Given the description of an element on the screen output the (x, y) to click on. 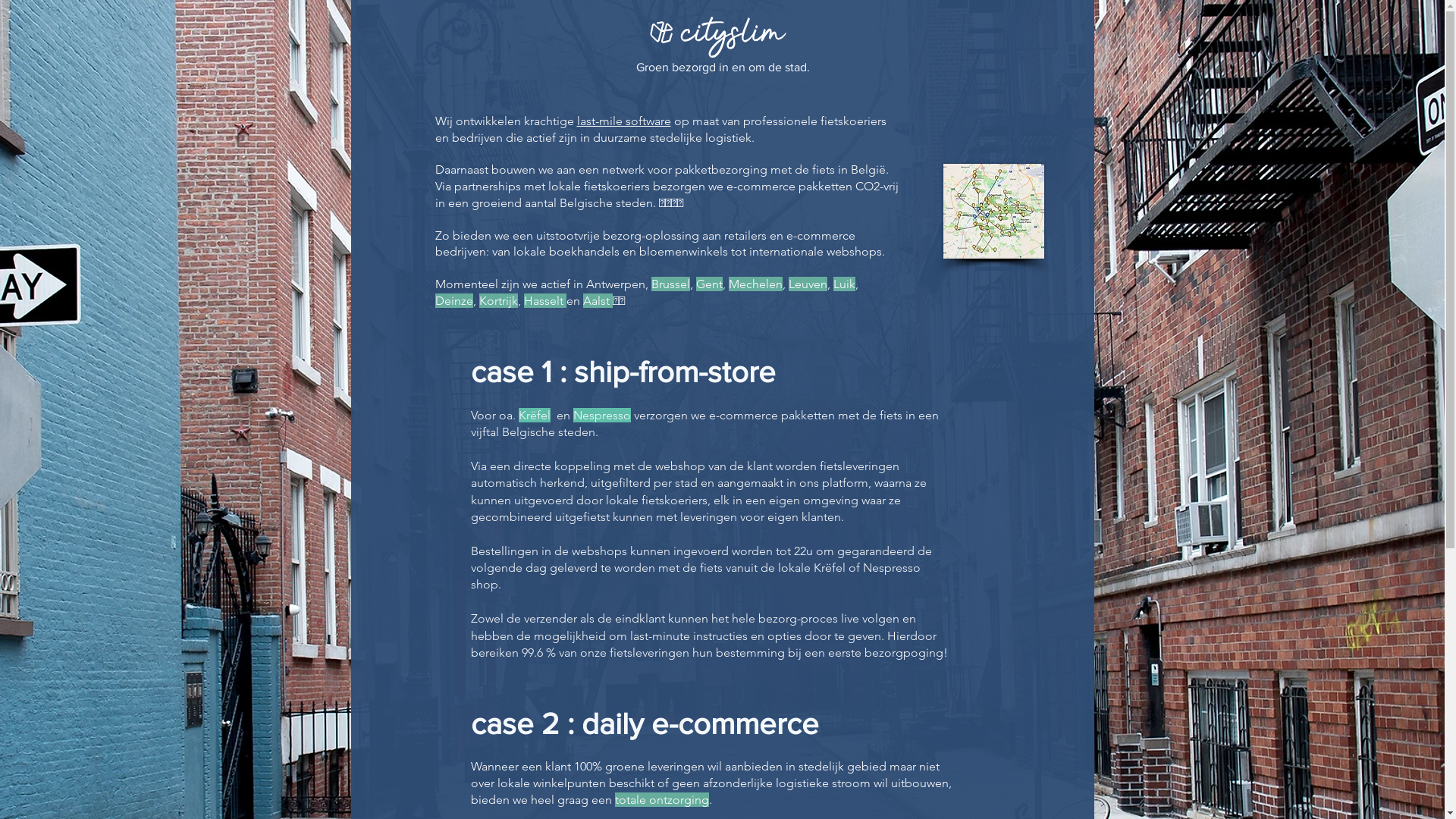
last-mile software Element type: text (623, 120)
map_edited.jpg Element type: hover (993, 210)
